Given the description of an element on the screen output the (x, y) to click on. 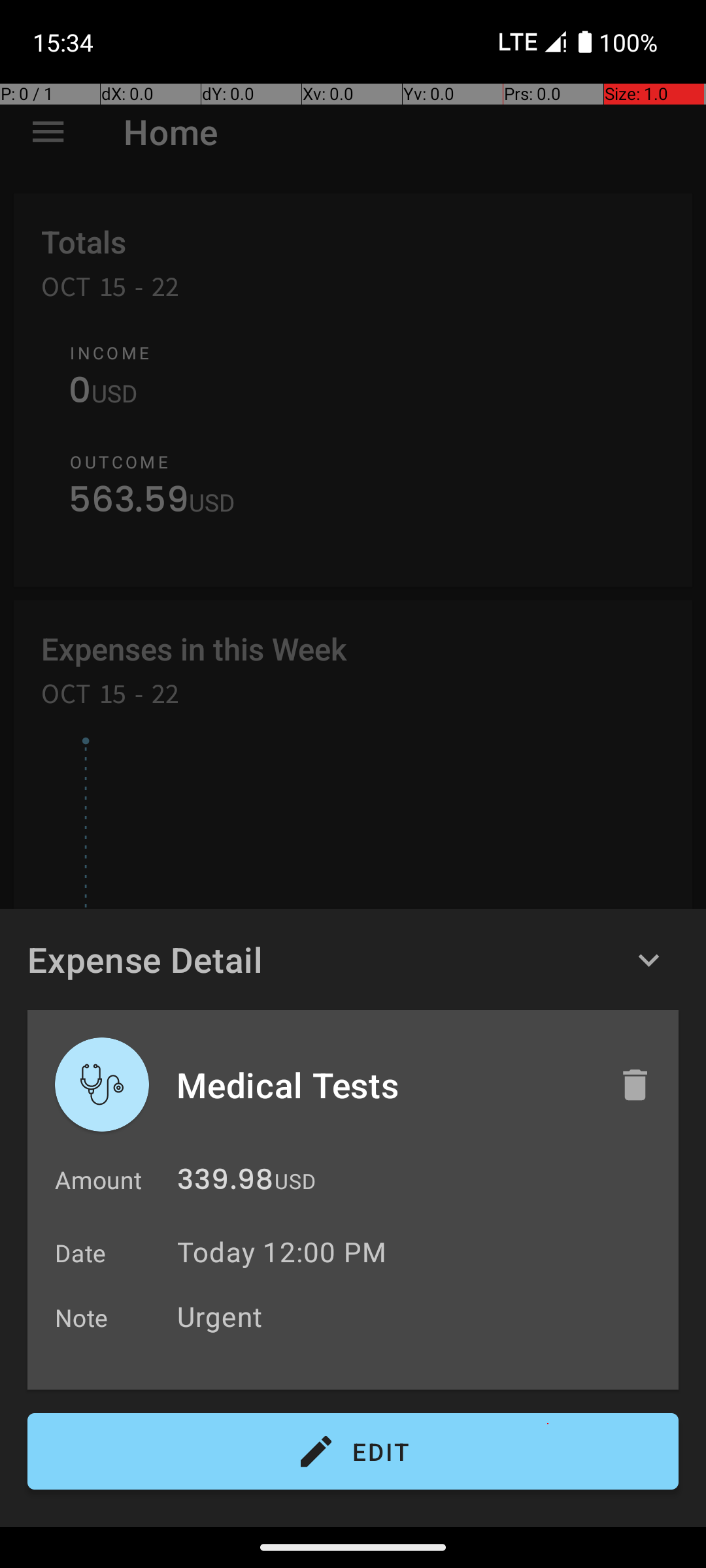
Medical Tests Element type: android.widget.TextView (383, 1084)
339.98 Element type: android.widget.TextView (224, 1182)
Today 12:00 PM Element type: android.widget.TextView (281, 1251)
